Given the description of an element on the screen output the (x, y) to click on. 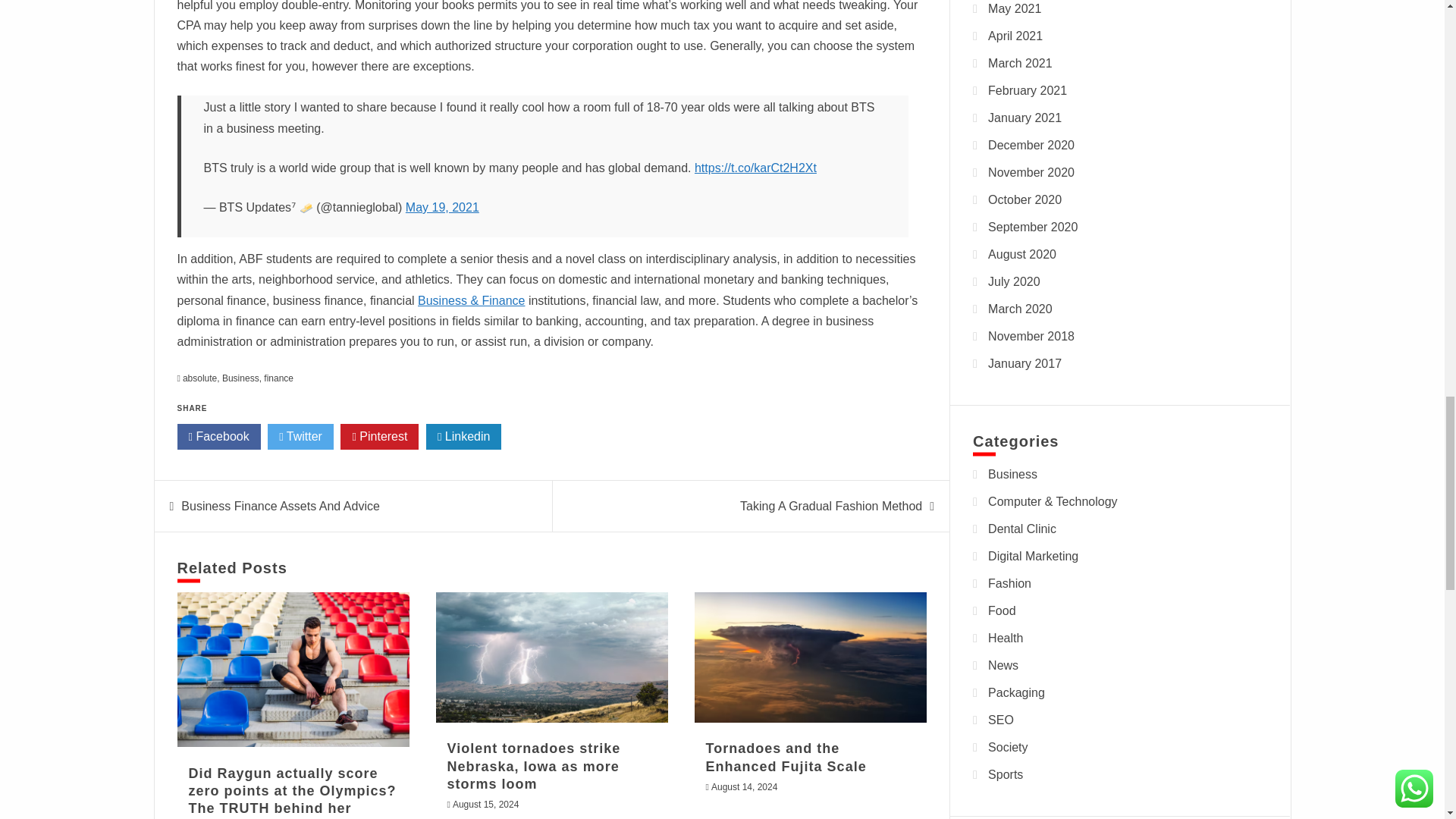
Tornadoes and the Enhanced Fujita Scale (810, 657)
absolute (199, 378)
Pinterest (379, 436)
Twitter (300, 436)
Violent tornadoes strike Nebraska, Iowa as more storms loom (551, 657)
May 19, 2021 (442, 206)
Facebook (218, 436)
Linkedin (464, 436)
finance (278, 378)
